Given the description of an element on the screen output the (x, y) to click on. 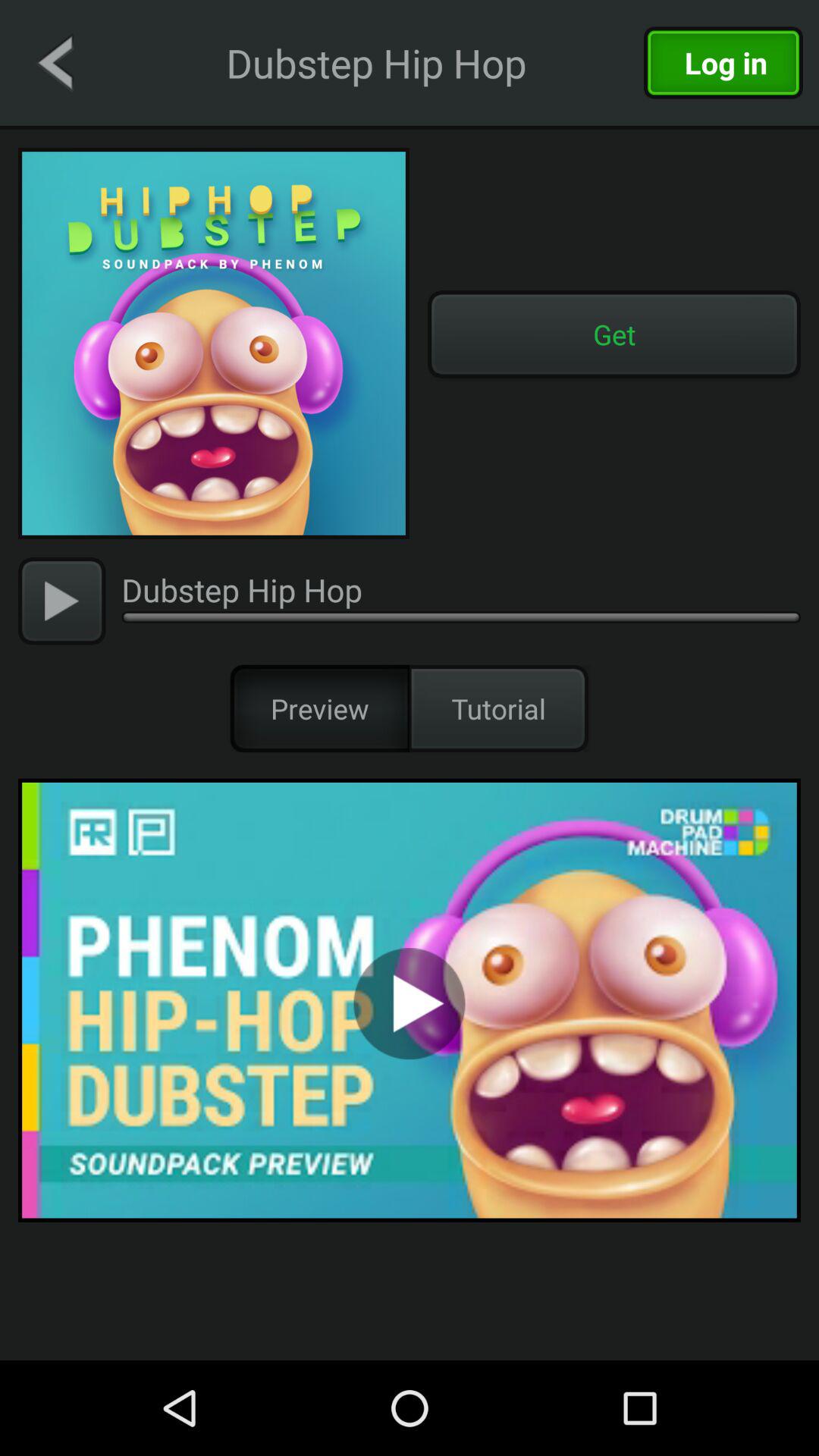
turn off the preview (319, 708)
